Given the description of an element on the screen output the (x, y) to click on. 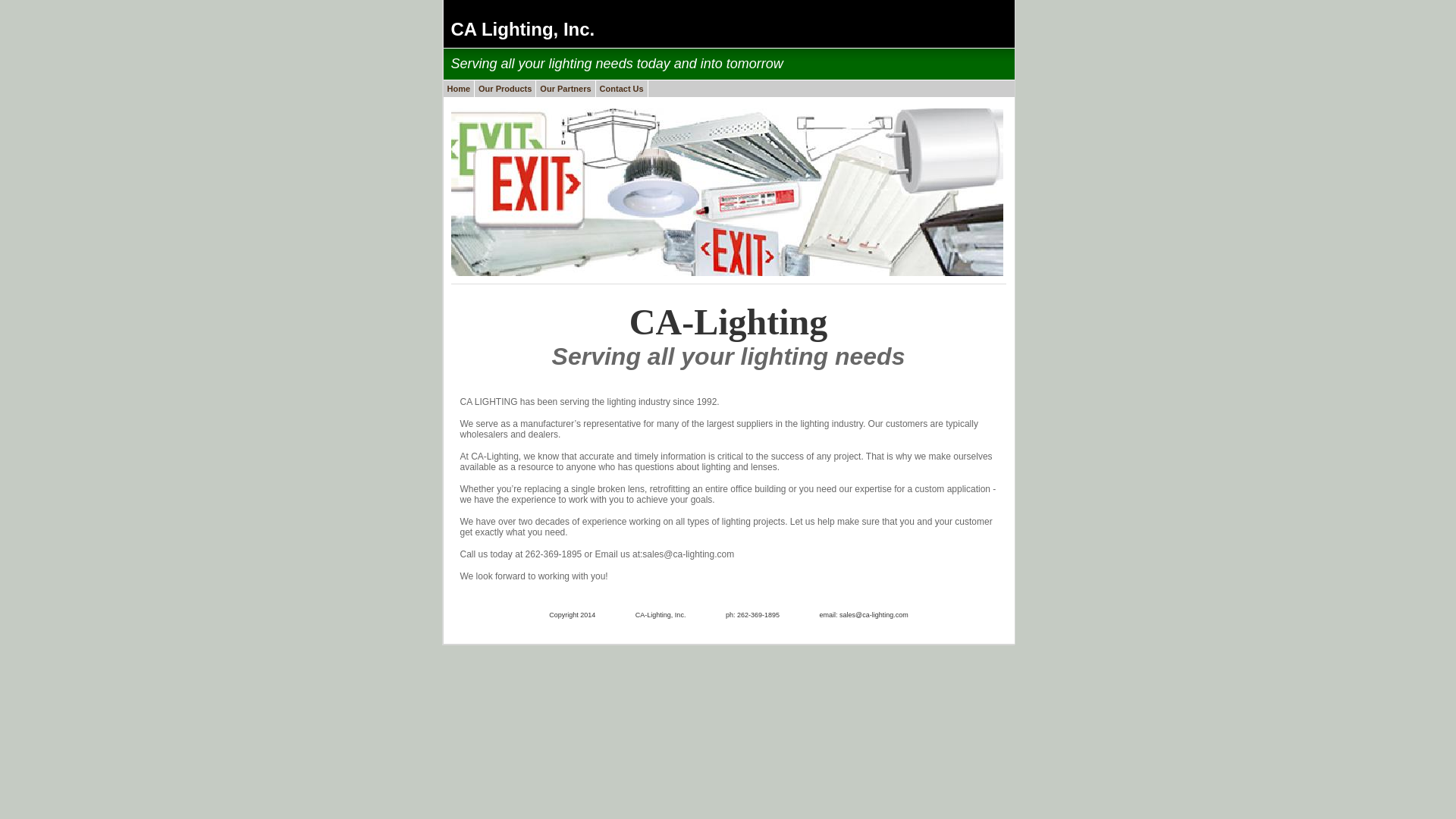
Contact Us (621, 88)
Our Partners (565, 88)
Home (458, 88)
Our Products (504, 88)
